Given the description of an element on the screen output the (x, y) to click on. 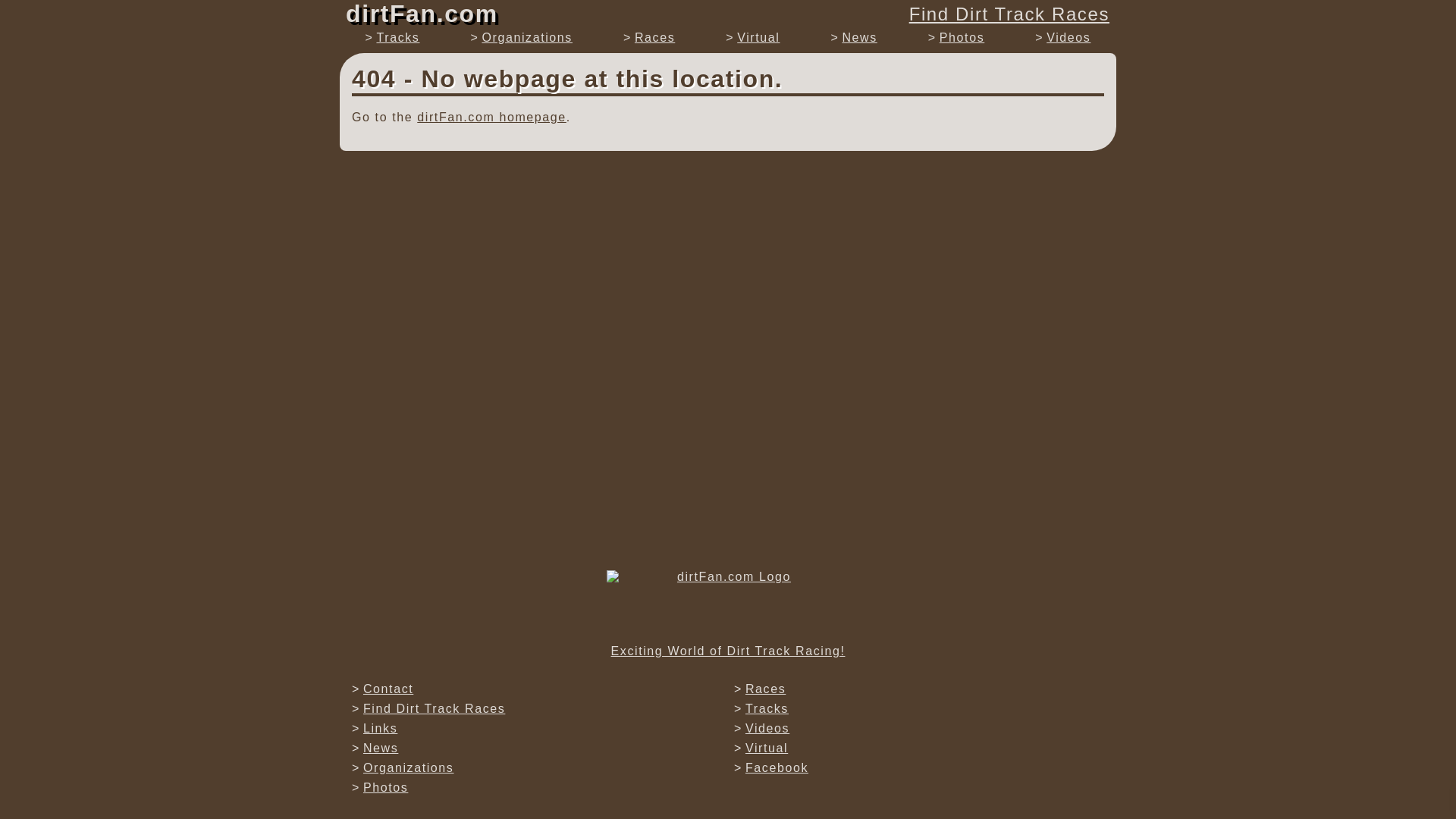
dirtFan.com (424, 13)
Contact (387, 688)
dirtFan.com homepage (491, 116)
Exciting World of Dirt Track Racing! (727, 614)
Virtual (766, 748)
Facebook (776, 767)
Races (765, 688)
Organizations (408, 767)
Virtual (757, 37)
Photos (384, 787)
